Given the description of an element on the screen output the (x, y) to click on. 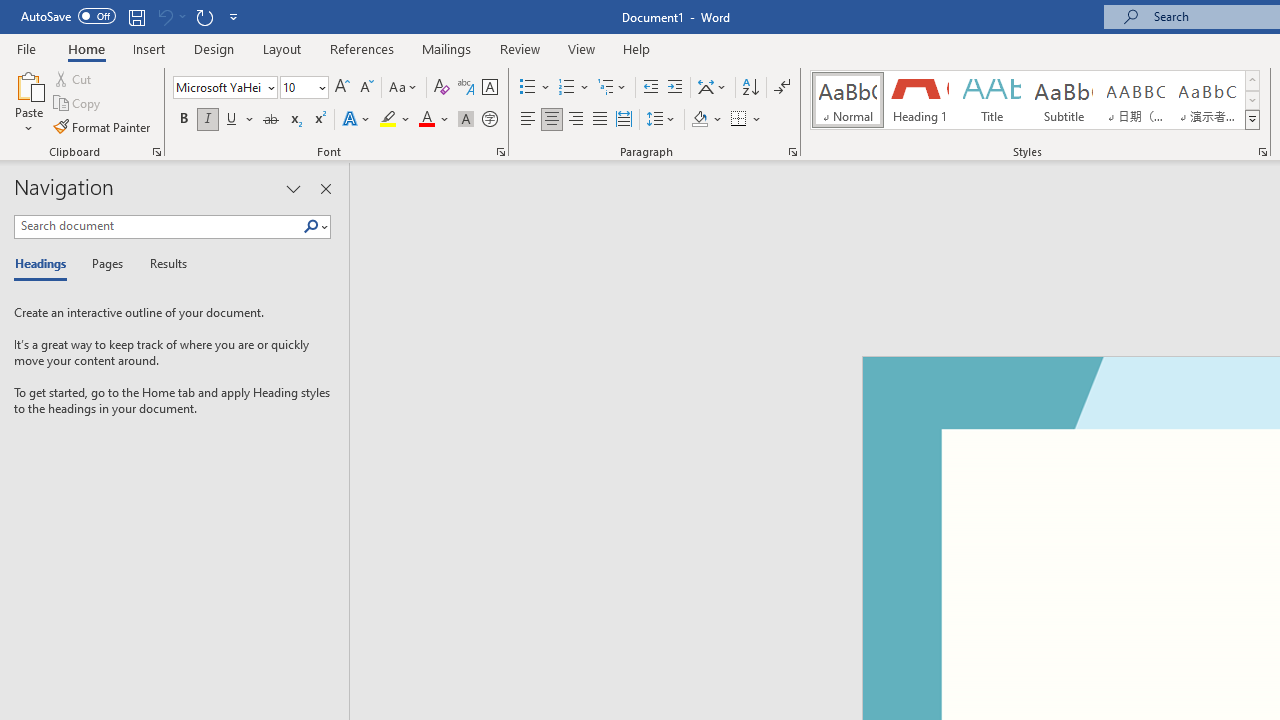
Can't Undo (170, 15)
